Given the description of an element on the screen output the (x, y) to click on. 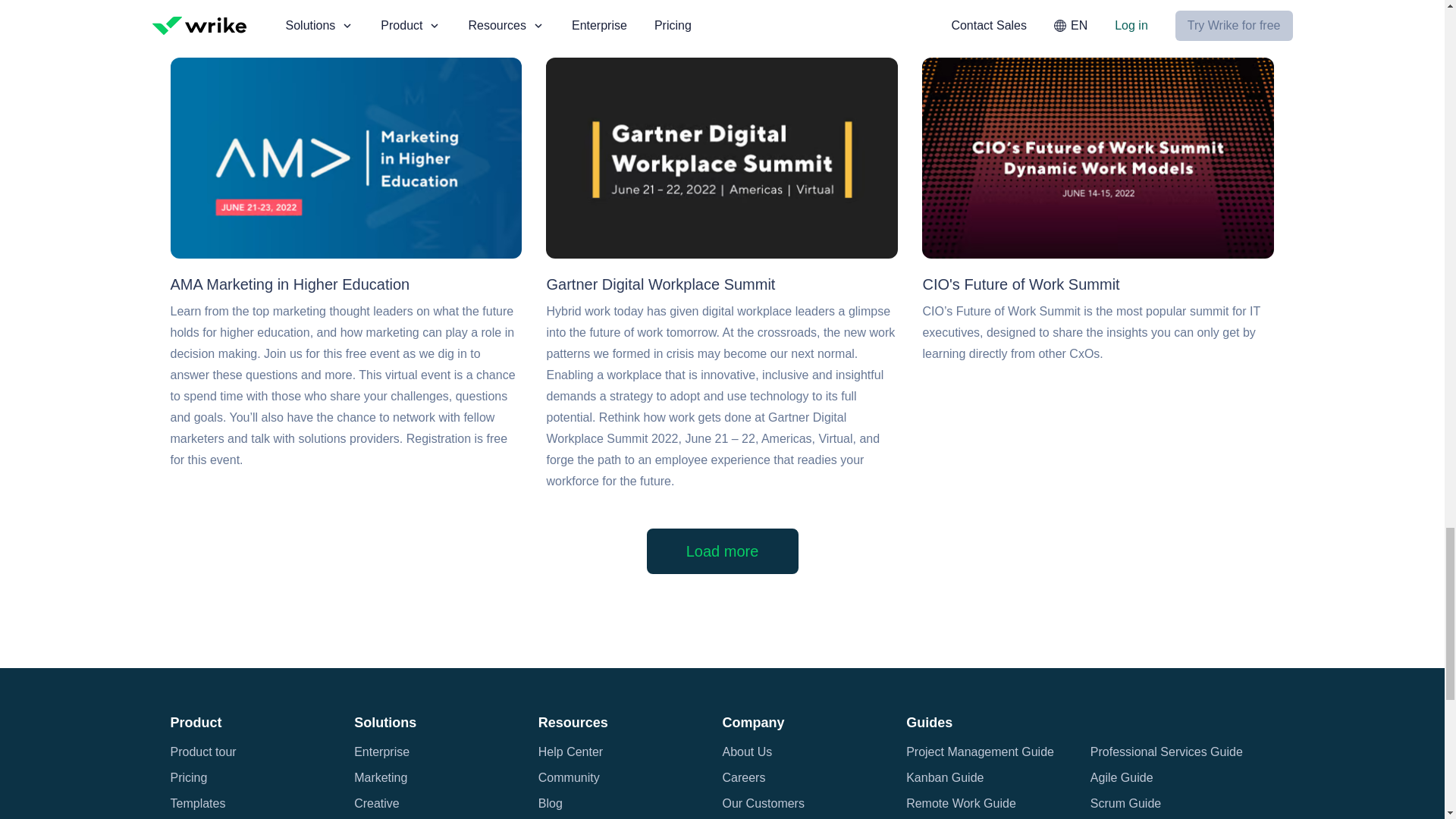
Pricing (188, 777)
Creative (375, 803)
Project Management (409, 817)
Product tour (202, 751)
Templates (197, 803)
Enterprise (381, 751)
Marketing (380, 777)
